Given the description of an element on the screen output the (x, y) to click on. 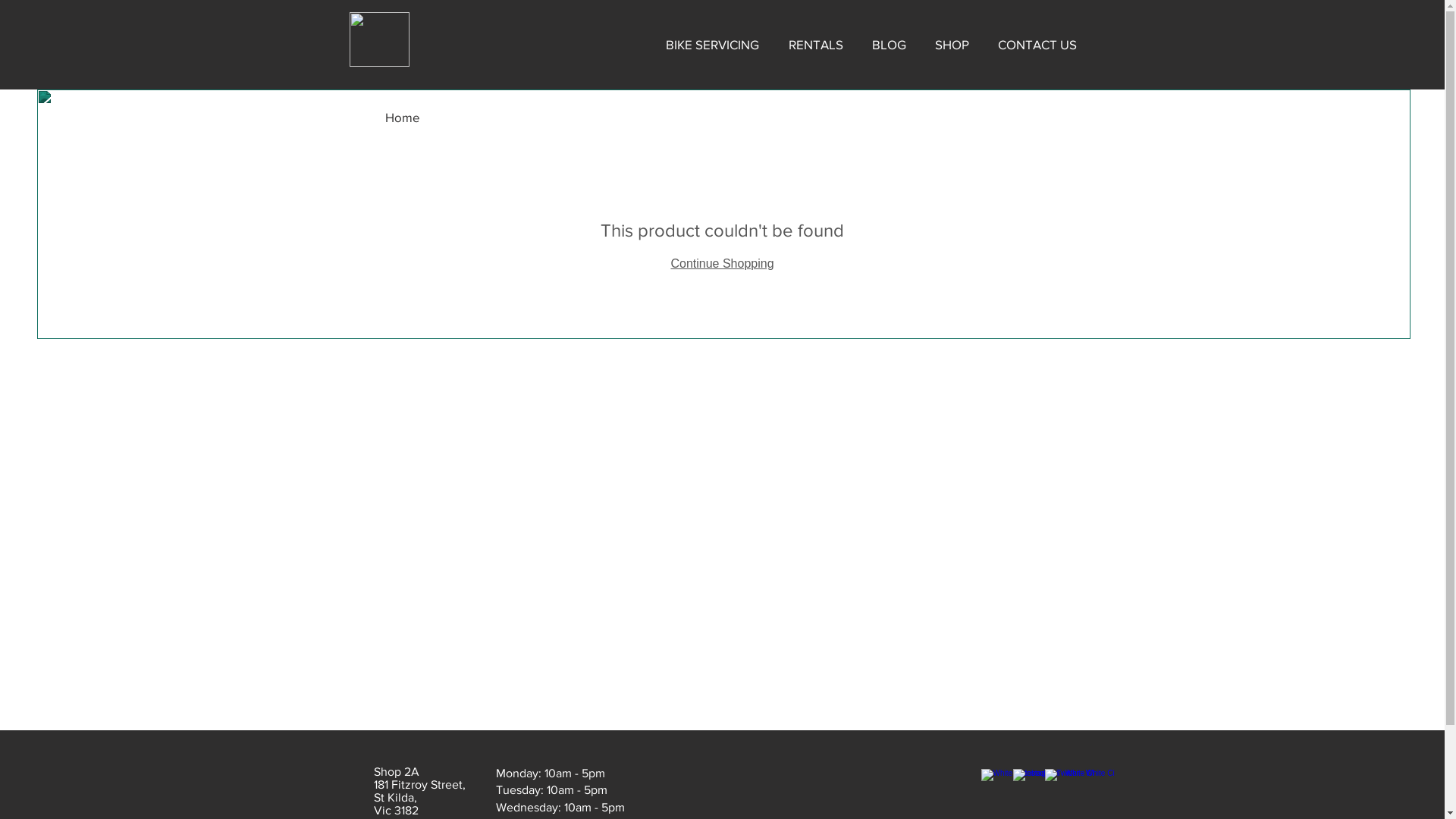
RENTALS Element type: text (814, 44)
BIKE SERVICING Element type: text (711, 44)
CONTACT US Element type: text (1036, 44)
Continue Shopping Element type: text (721, 263)
BLOG Element type: text (887, 44)
Just Pedal logo 3_edited.png Element type: hover (378, 39)
Home Element type: text (402, 116)
SHOP Element type: text (951, 44)
